Given the description of an element on the screen output the (x, y) to click on. 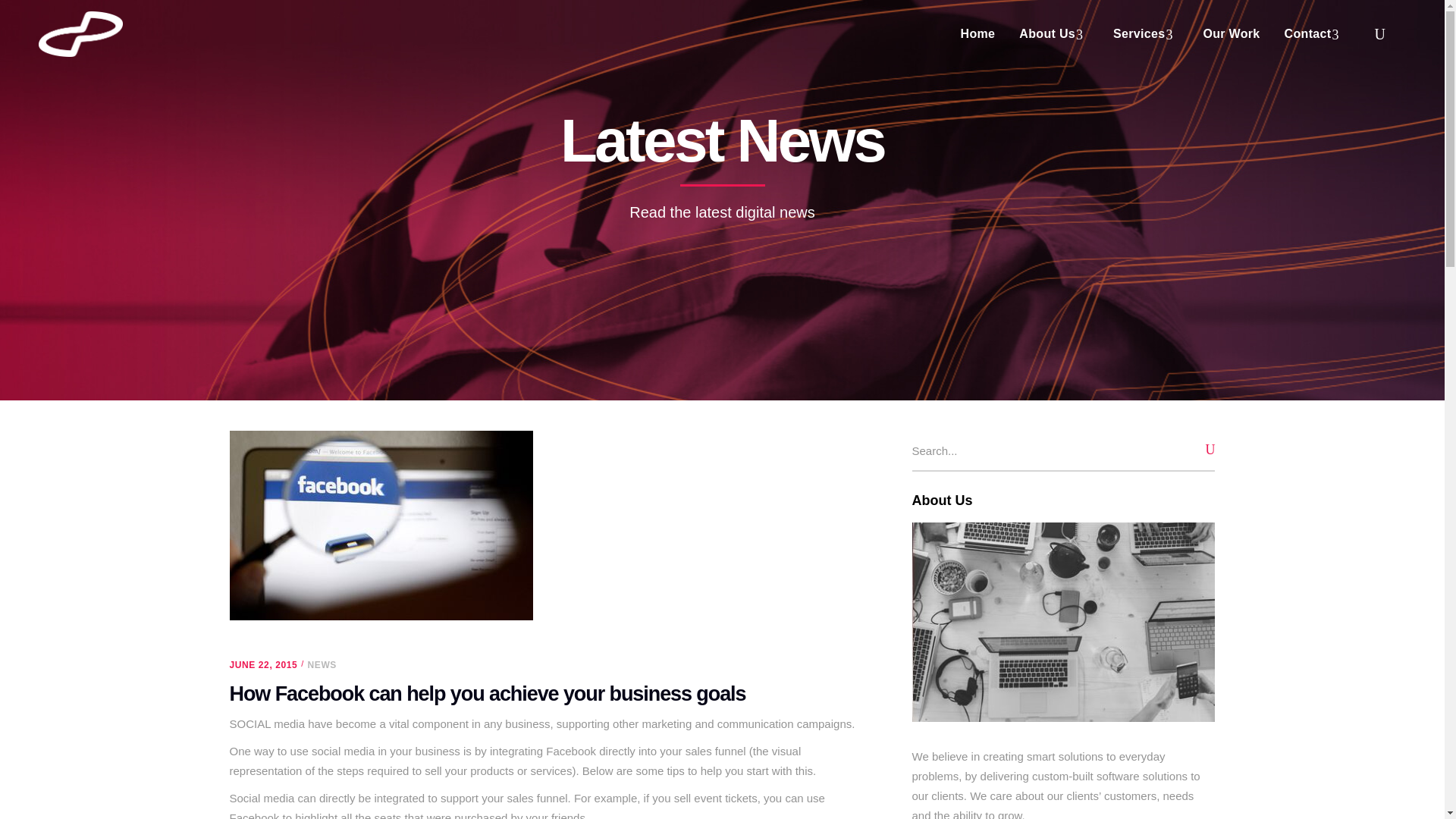
Contact (1314, 33)
About Us (1053, 33)
Services (1145, 33)
Search for: (1042, 450)
Our Work (1231, 33)
